Given the description of an element on the screen output the (x, y) to click on. 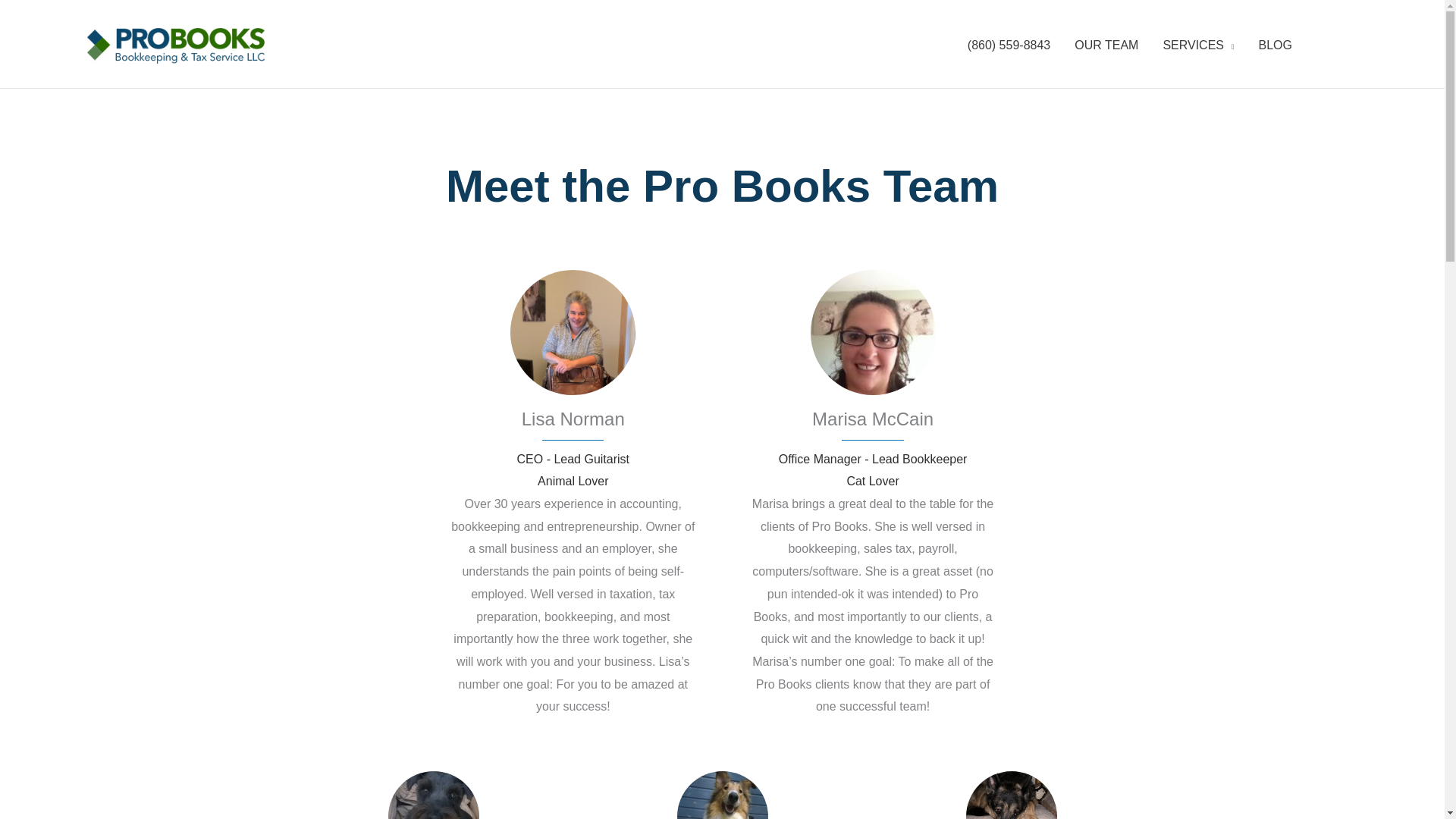
OUR TEAM (1106, 45)
SERVICES (1198, 45)
BLOG (1275, 45)
Marisa Profile Picture (873, 332)
